Given the description of an element on the screen output the (x, y) to click on. 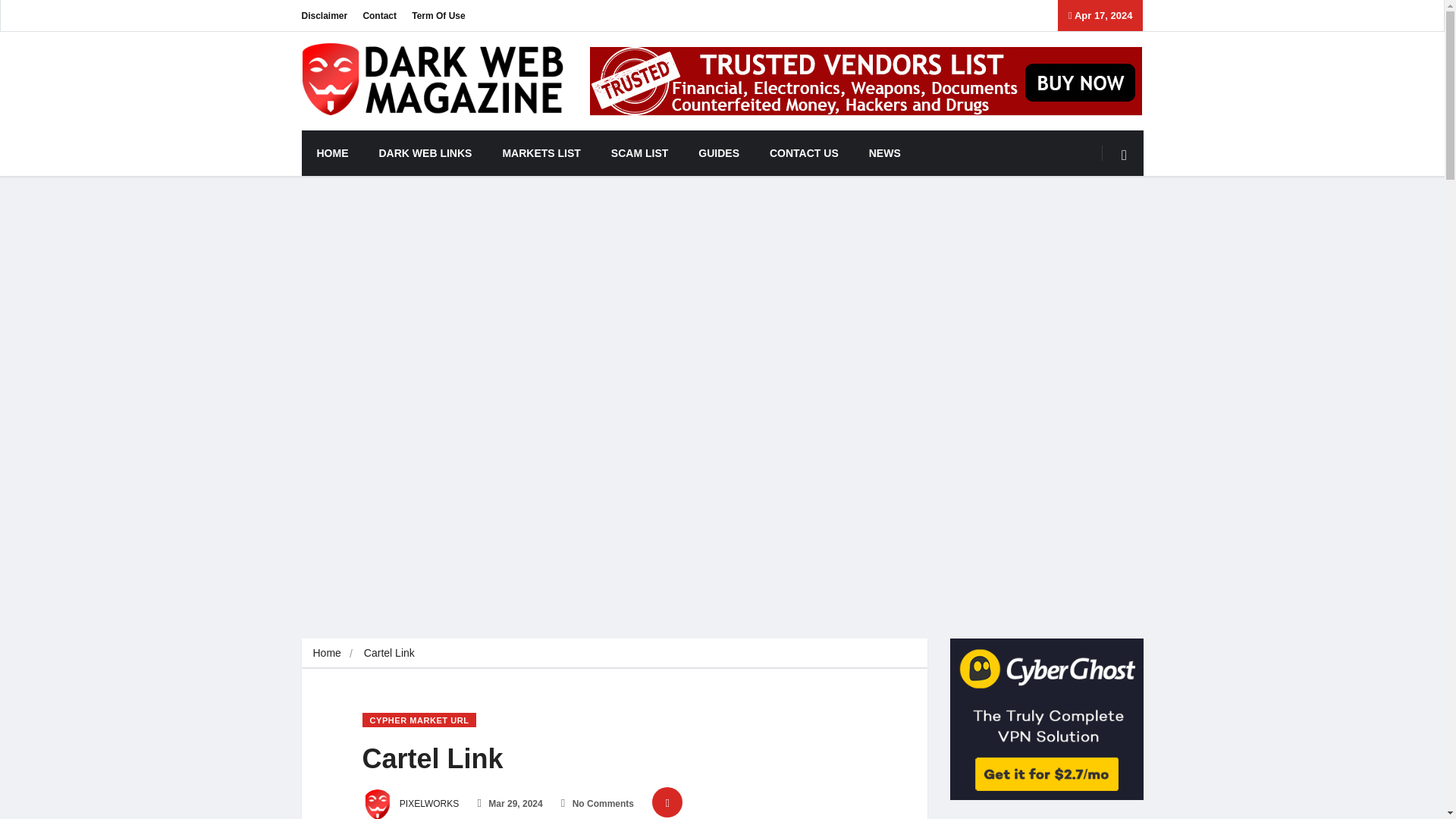
CYPHER MARKET URL (419, 719)
DARK WEB LINKS (425, 153)
GUIDES (718, 153)
SCAM LIST (638, 153)
Disclaimer (324, 15)
HOME (332, 153)
Contact (379, 15)
NEWS (884, 153)
PIXELWORKS (411, 803)
CONTACT US (803, 153)
Home (326, 653)
Term Of Use (438, 15)
MARKETS LIST (540, 153)
